Given the description of an element on the screen output the (x, y) to click on. 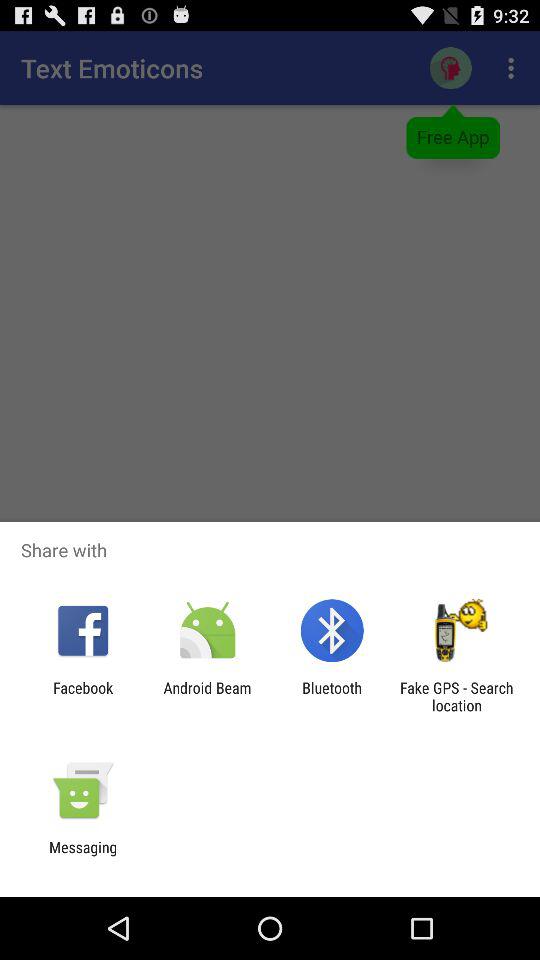
tap facebook icon (83, 696)
